Given the description of an element on the screen output the (x, y) to click on. 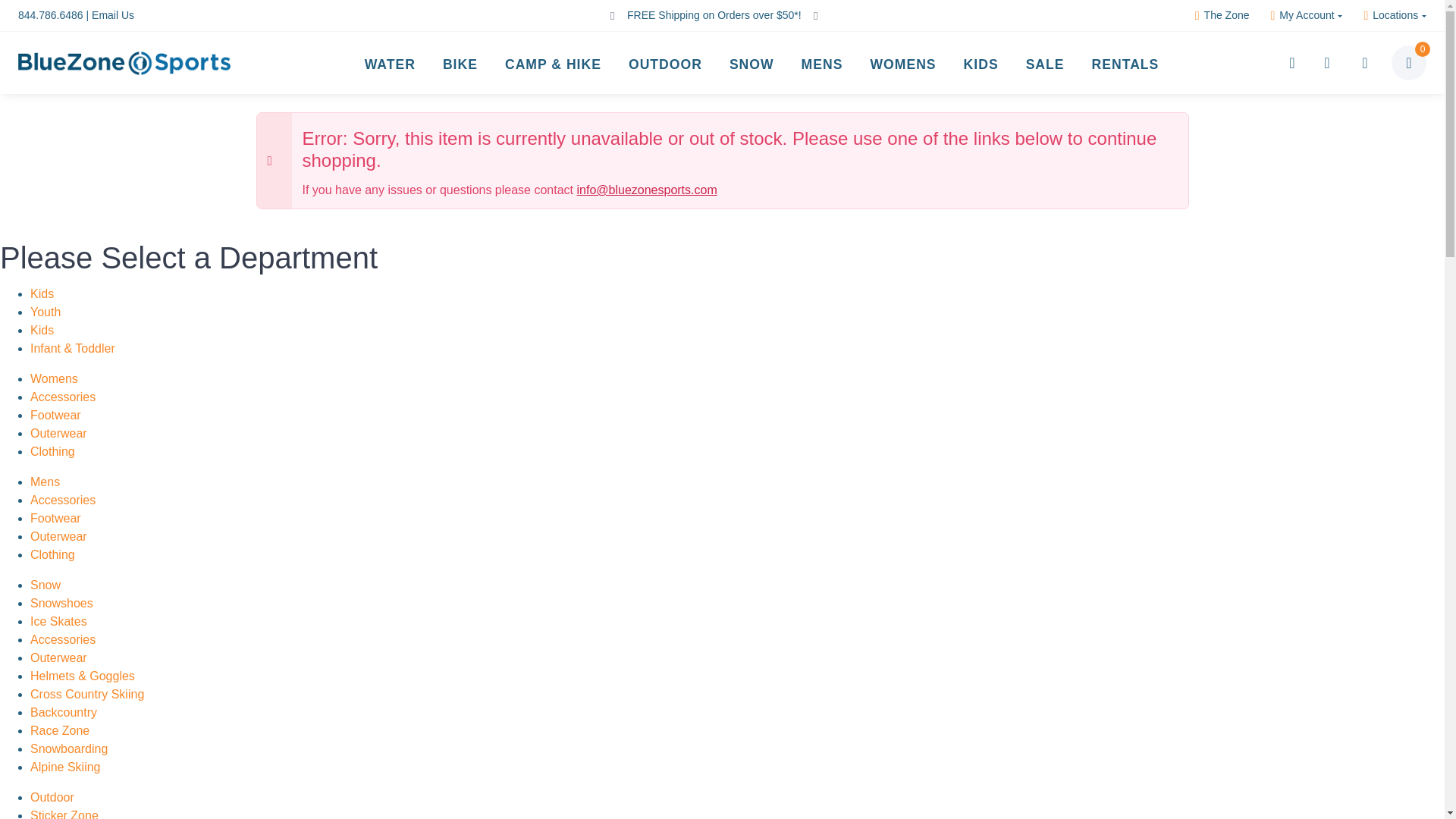
My Account (1305, 15)
844.786.6486 (49, 15)
Locations (1394, 15)
The Zone (1222, 15)
WATER (389, 62)
0 (1408, 62)
Email Us (112, 15)
